Given the description of an element on the screen output the (x, y) to click on. 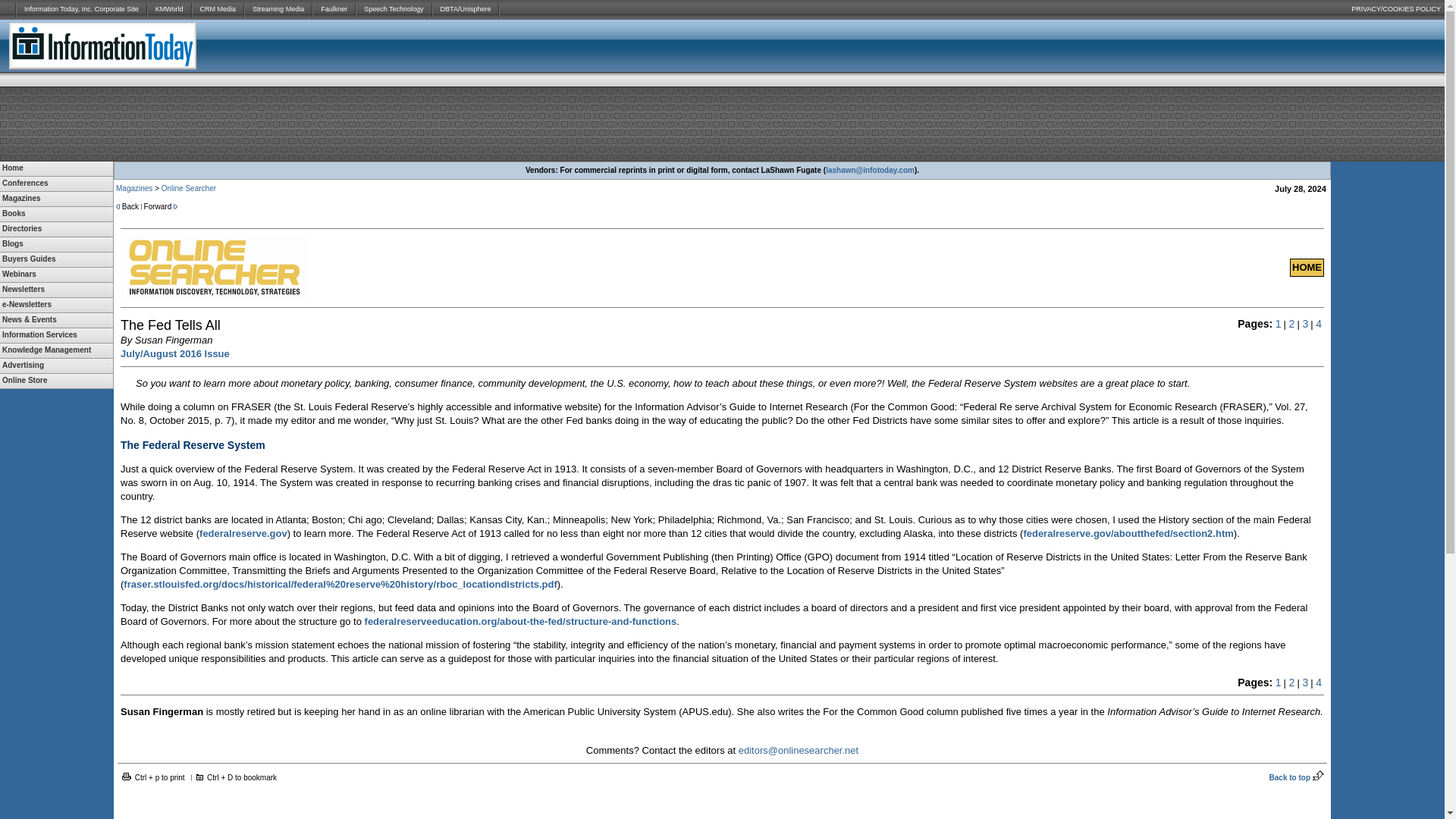
Click to return to table of contents (175, 353)
Online Searcher Home (1307, 266)
Faulkner (334, 9)
Conferences (56, 183)
Information Today, Inc. Corporate Site (81, 9)
Speech Technology (393, 9)
Magazines (56, 198)
Home (56, 168)
KMWorld (169, 9)
CRM Media (218, 9)
Streaming Media (277, 9)
